Given the description of an element on the screen output the (x, y) to click on. 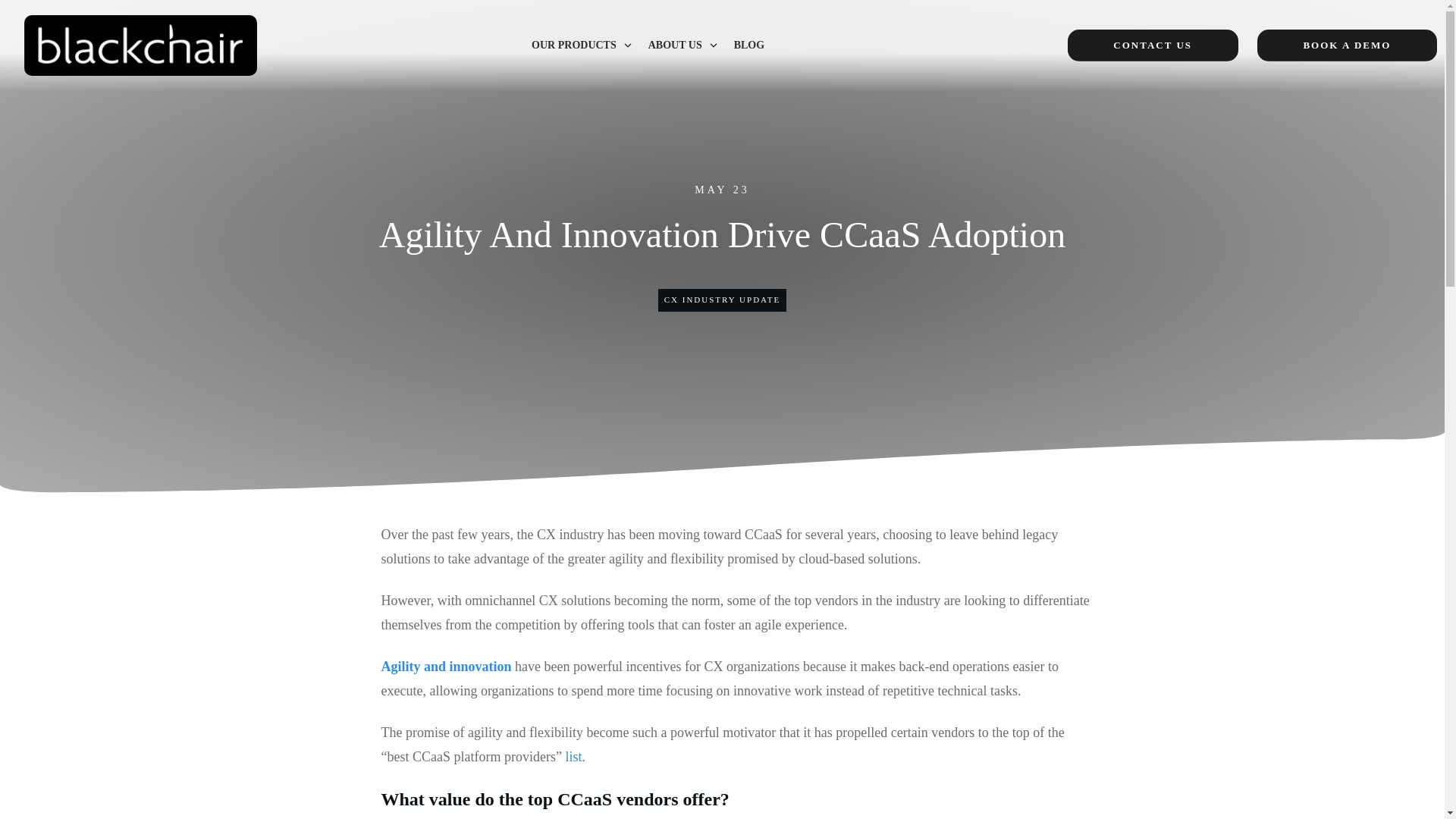
BLOG (748, 45)
BOOK A DEMO (1347, 45)
ABOUT US (683, 45)
CONTACT US (1153, 45)
CX industry update (721, 298)
OUR PRODUCTS (582, 45)
